Given the description of an element on the screen output the (x, y) to click on. 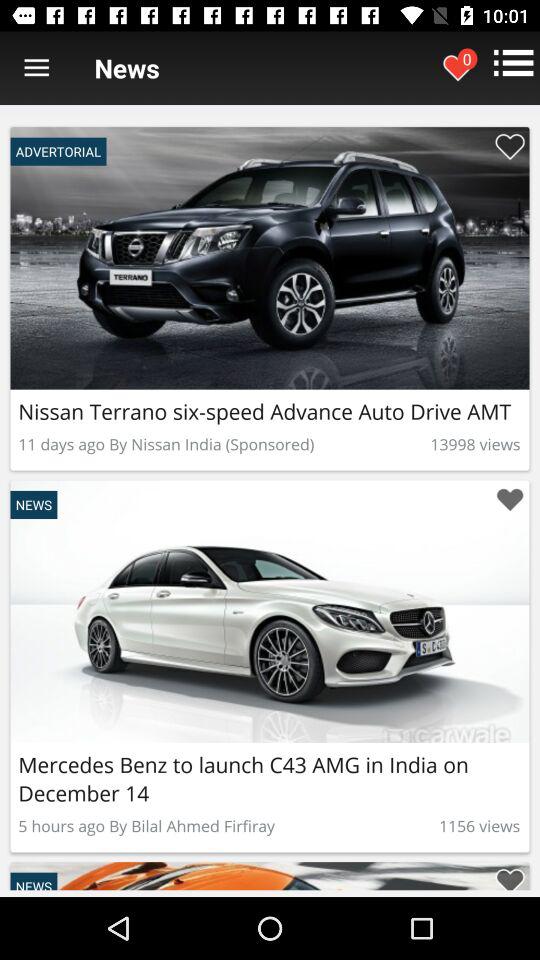
like image (509, 499)
